Given the description of an element on the screen output the (x, y) to click on. 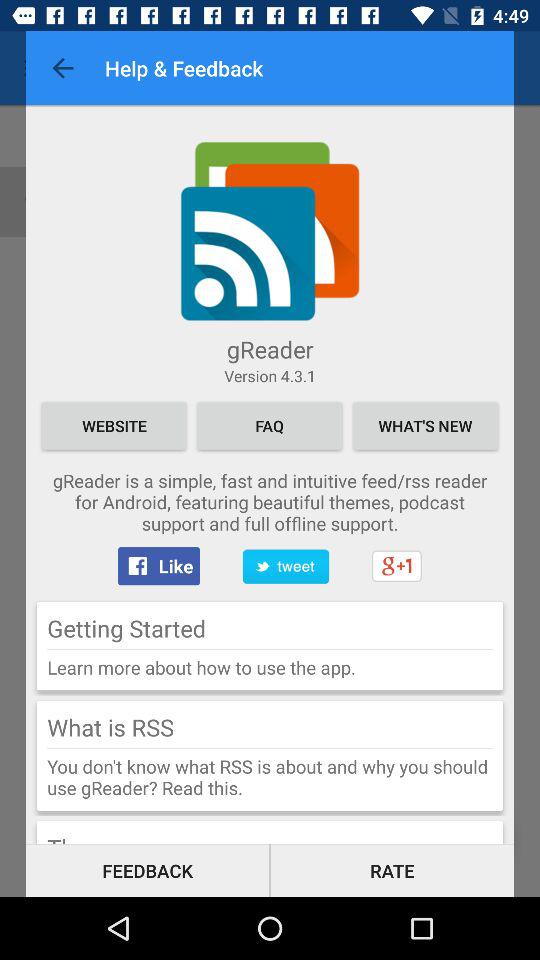
choose the item next to the help & feedback icon (62, 68)
